Given the description of an element on the screen output the (x, y) to click on. 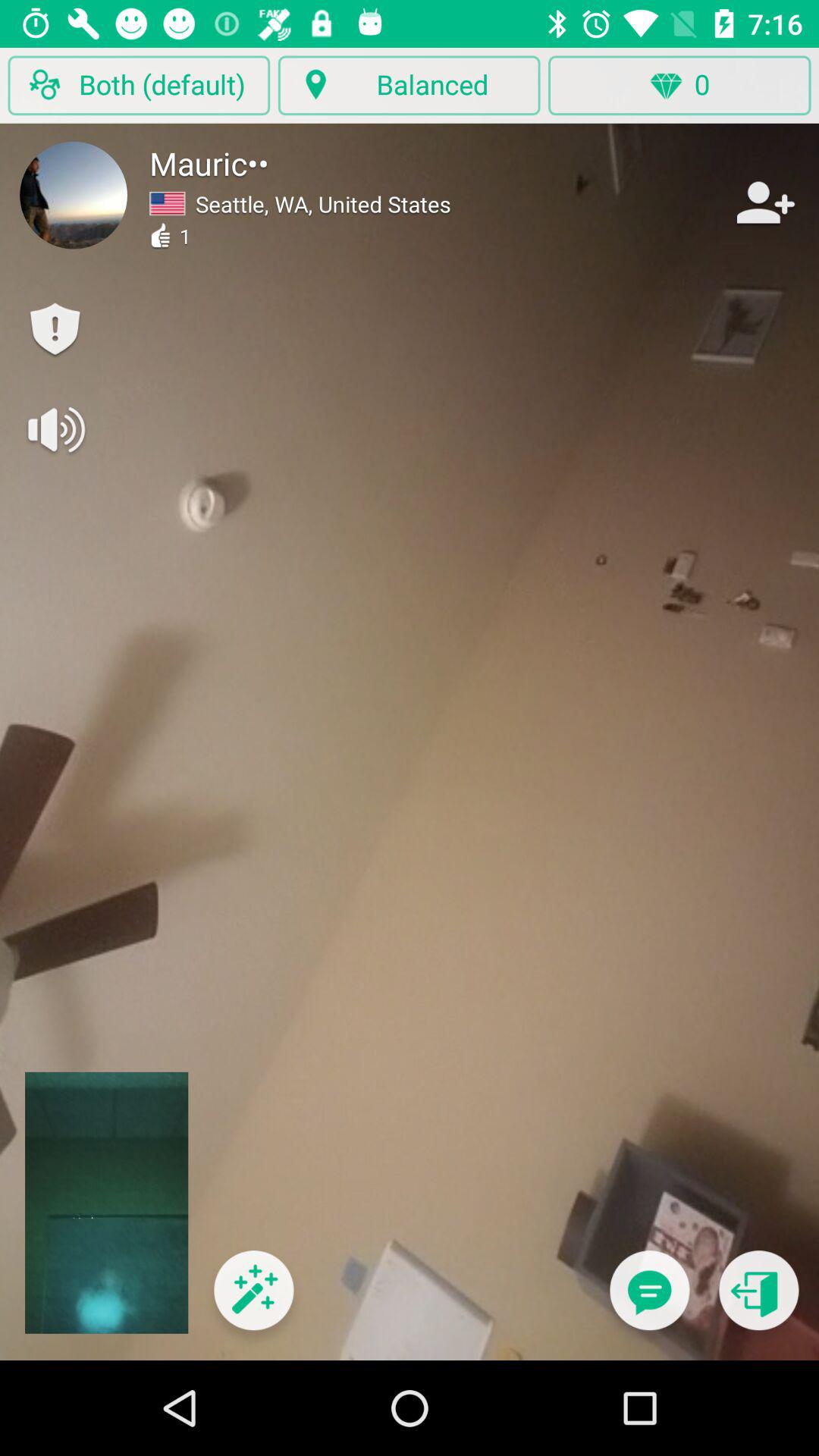
add additional viewer/attendee (763, 202)
